Given the description of an element on the screen output the (x, y) to click on. 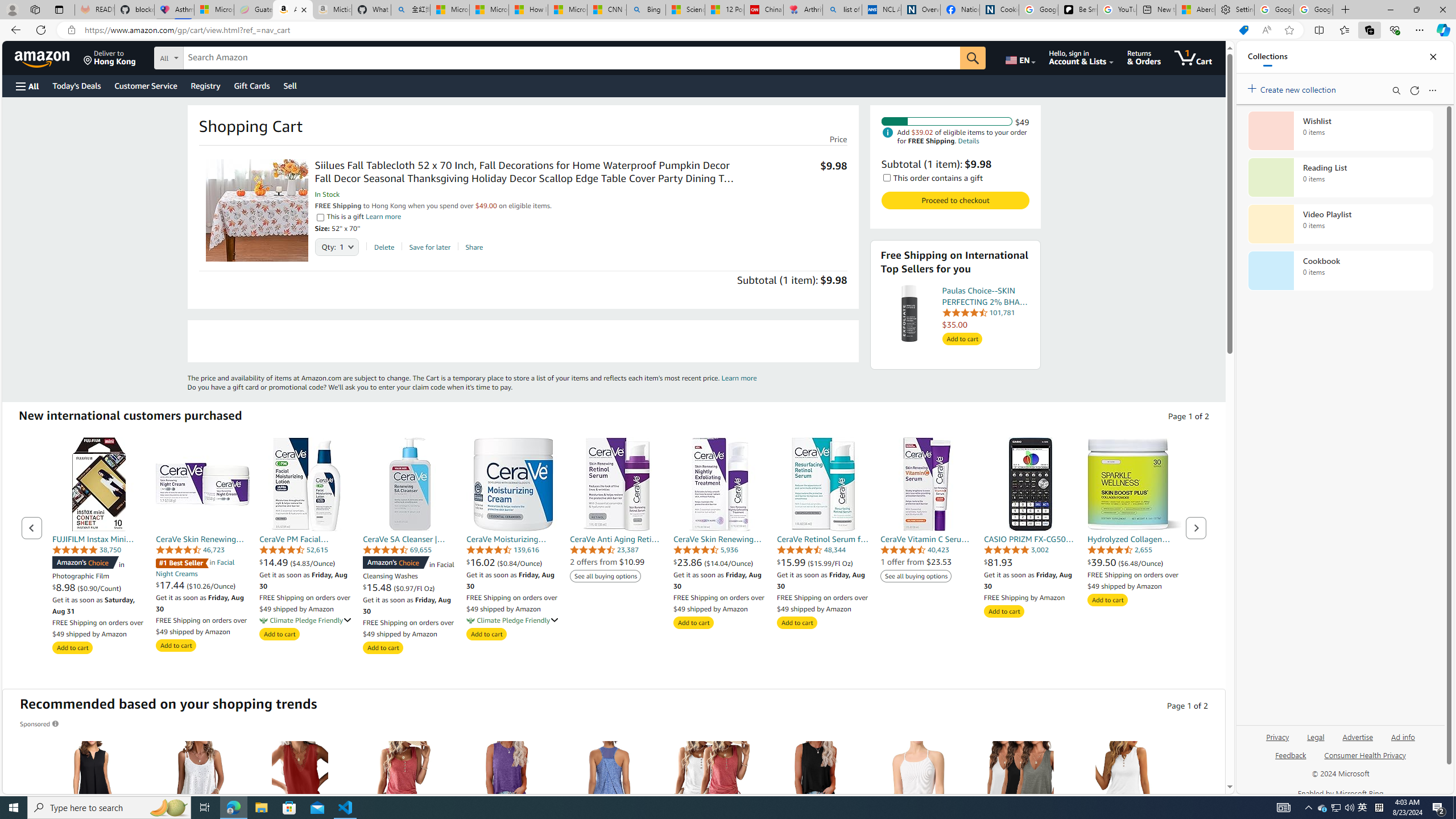
Reading List collection, 0 items (1339, 177)
Amazon.com Shopping Cart (292, 9)
($10.26/Ounce) (210, 585)
Next page (1196, 527)
Class: a-link-normal (1133, 538)
Today's Deals (76, 85)
More options menu (1432, 90)
$15.48  (378, 587)
Microsoft-Report a Concern to Bing (213, 9)
$8.98  (65, 587)
